Given the description of an element on the screen output the (x, y) to click on. 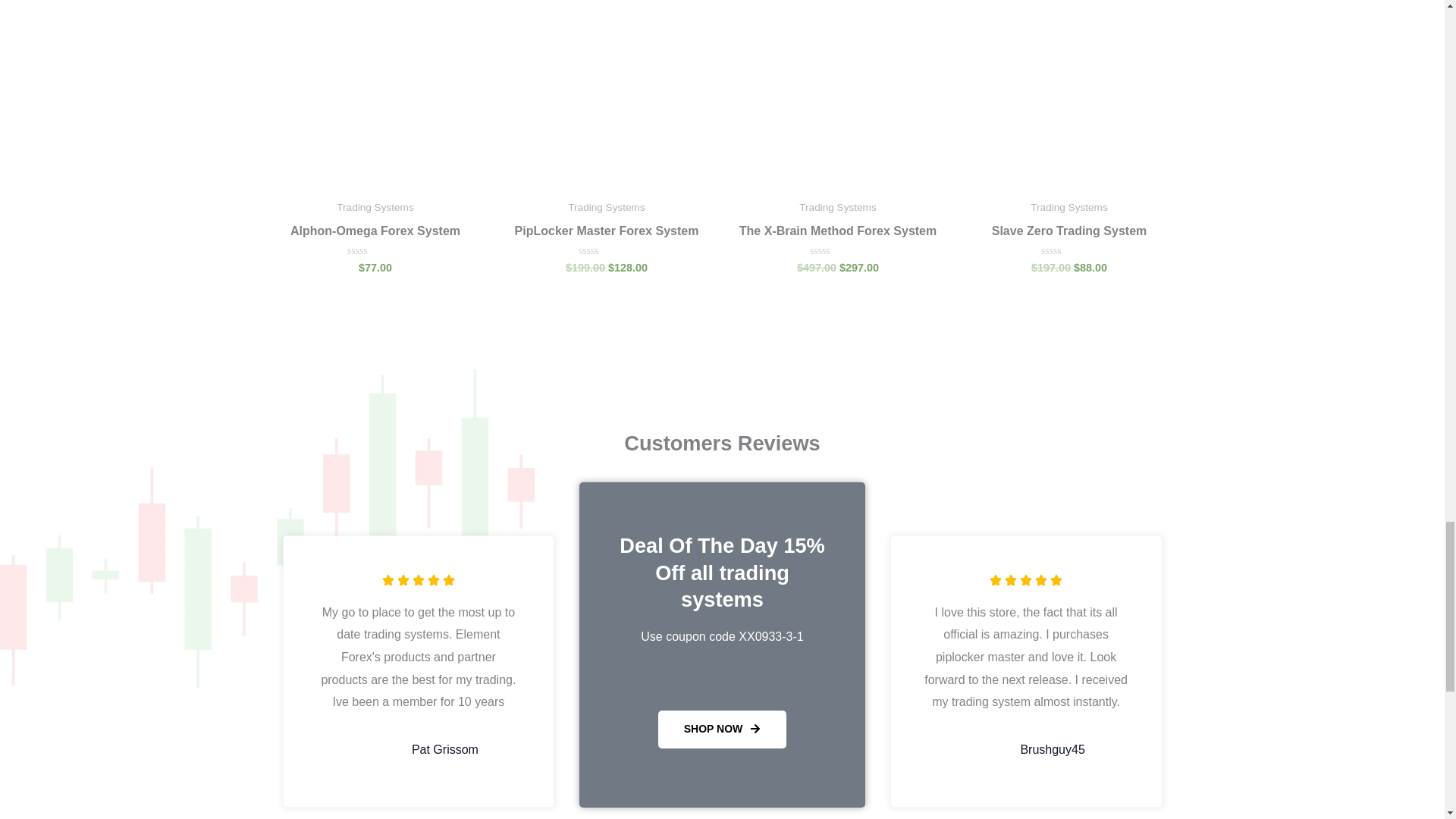
PipLocker Master Forex System (606, 234)
Alphon-Omega Forex System (374, 234)
